Given the description of an element on the screen output the (x, y) to click on. 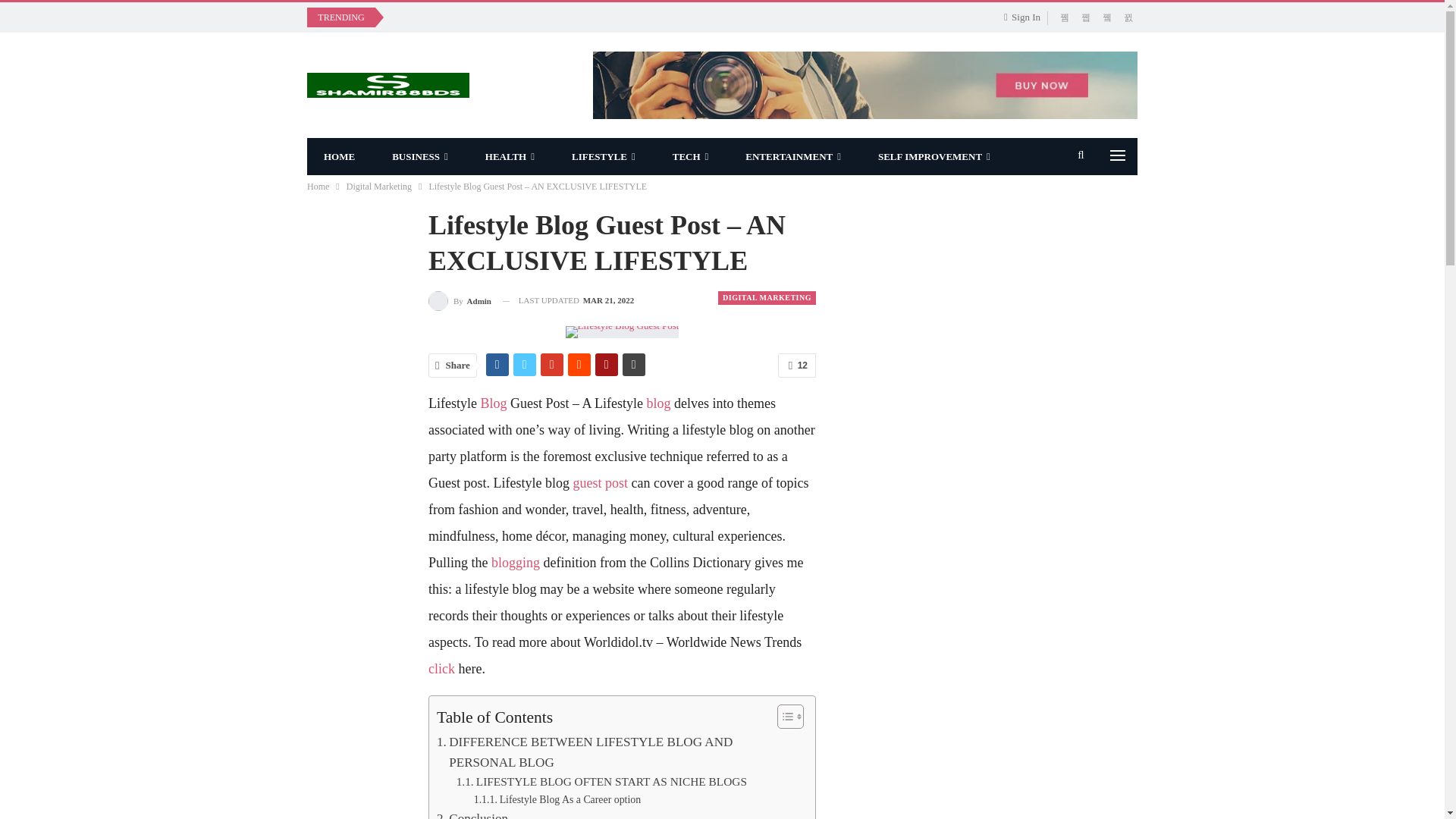
BUSINESS (419, 156)
LIFESTYLE BLOG OFTEN START AS NICHE BLOGS (601, 782)
Sign In (1025, 17)
Browse Author Articles (460, 300)
Lifestyle Blog As a Career option (557, 799)
DIFFERENCE BETWEEN LIFESTYLE BLOG AND PERSONAL BLOG (617, 752)
Conclusion (472, 813)
HOME (339, 156)
LIFESTYLE (603, 156)
HEALTH (509, 156)
